Given the description of an element on the screen output the (x, y) to click on. 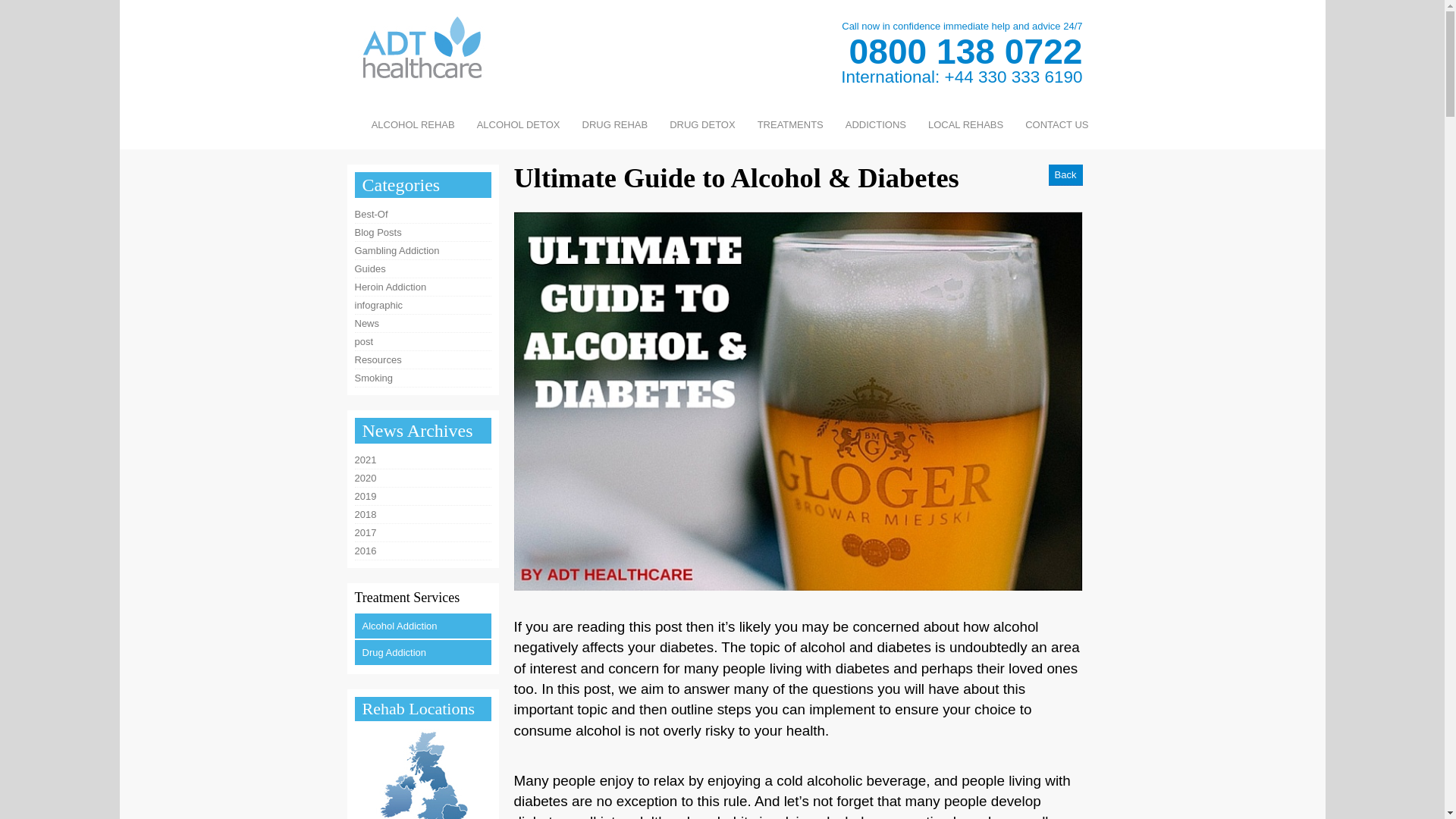
Gambling Addiction (423, 250)
Best-Of (423, 214)
ALCOHOL DETOX (518, 124)
TREATMENTS (790, 124)
CONTACT US (1056, 124)
infographic (423, 305)
DRUG REHAB (615, 124)
Blog Posts (423, 232)
Guides (423, 269)
LOCAL REHABS (964, 124)
